Given the description of an element on the screen output the (x, y) to click on. 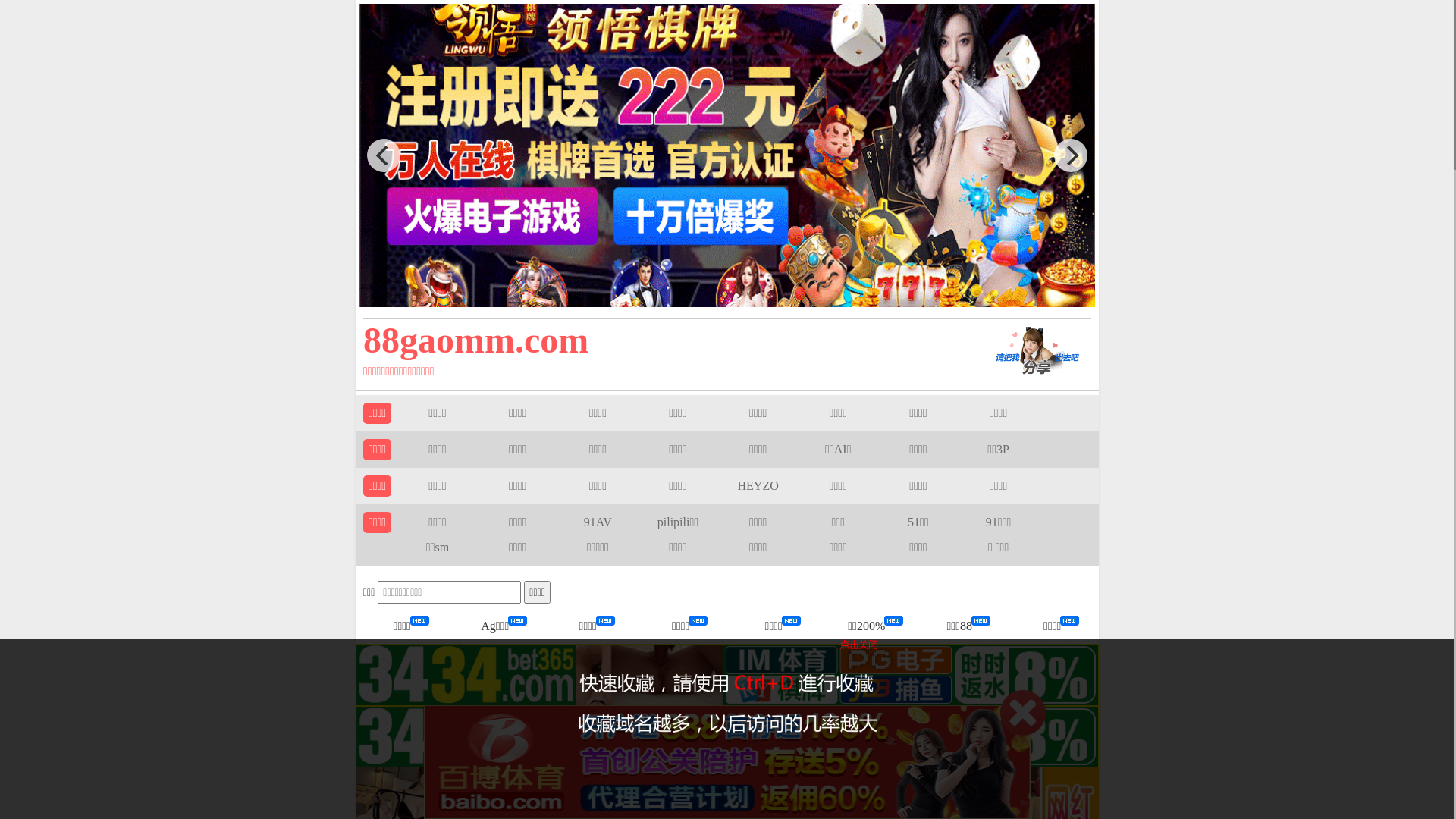
HEYZO Element type: text (757, 485)
91AV Element type: text (597, 521)
88gaomm.com Element type: text (654, 339)
